Given the description of an element on the screen output the (x, y) to click on. 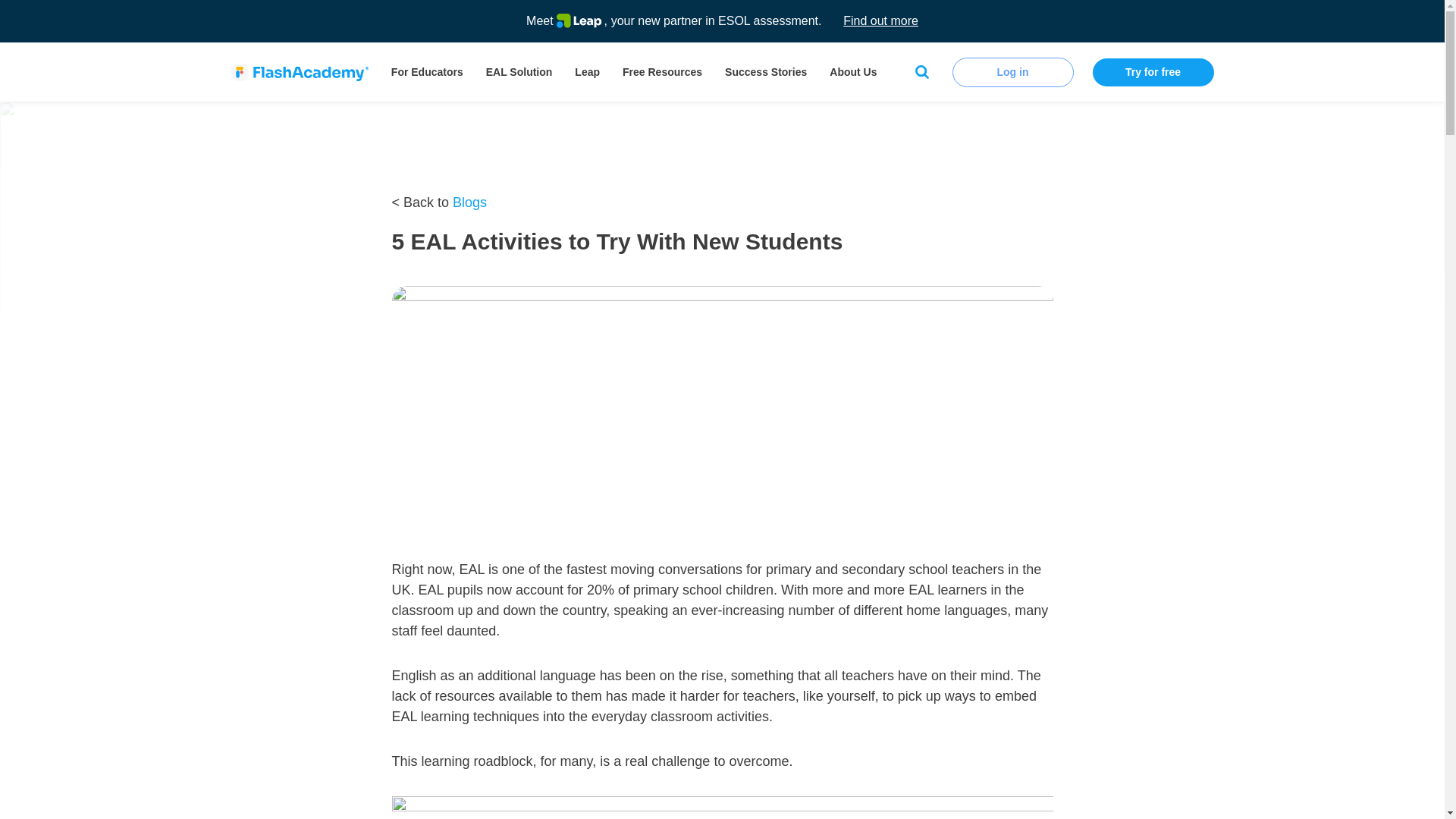
Success Stories (765, 71)
Find out more (880, 21)
For Educators (427, 71)
Try for free (1152, 71)
Free Resources (662, 71)
Log in (1013, 71)
About Us (853, 71)
EAL Solution (519, 71)
Leap (587, 71)
